Given the description of an element on the screen output the (x, y) to click on. 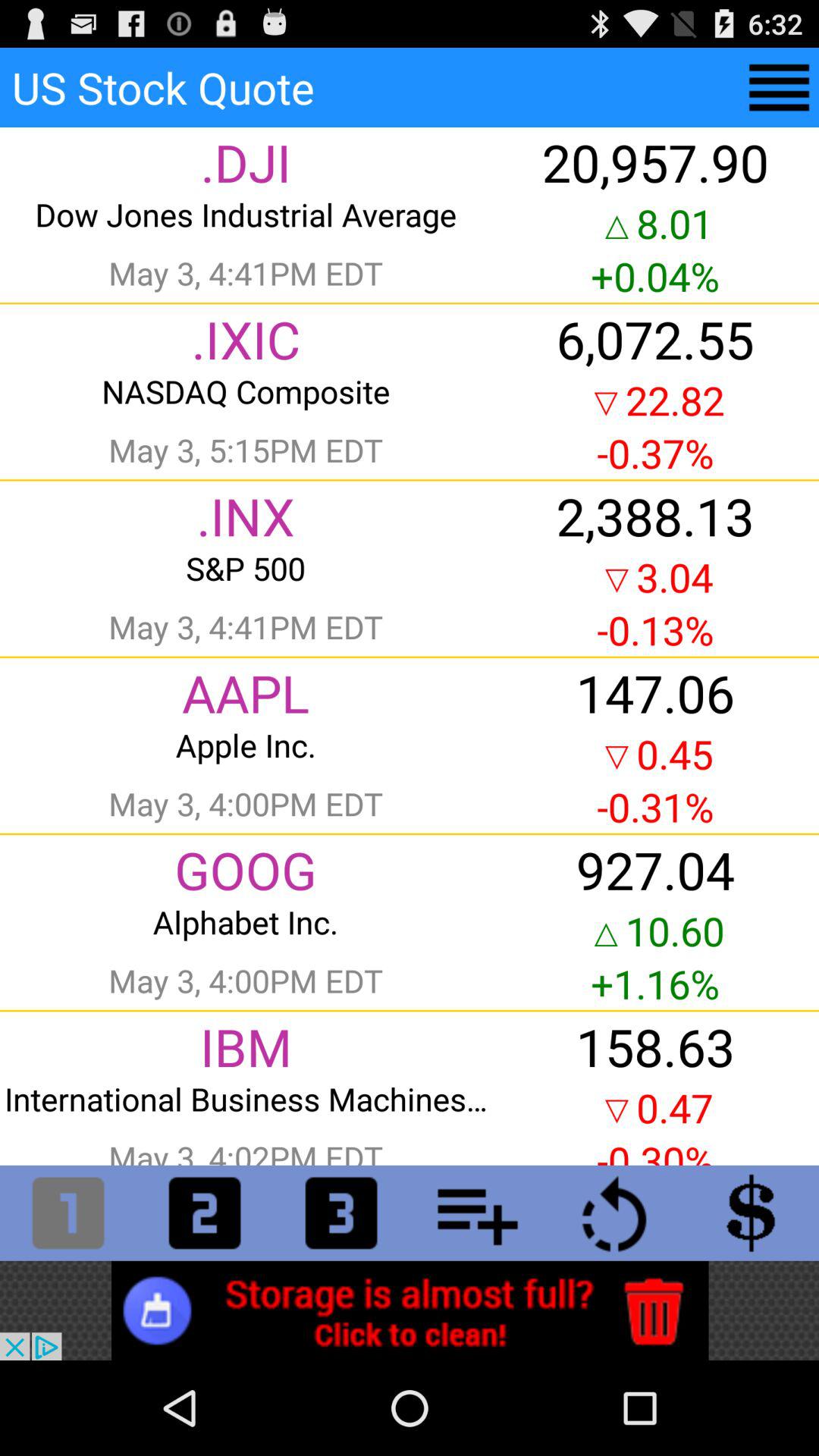
open more options (477, 1212)
